Given the description of an element on the screen output the (x, y) to click on. 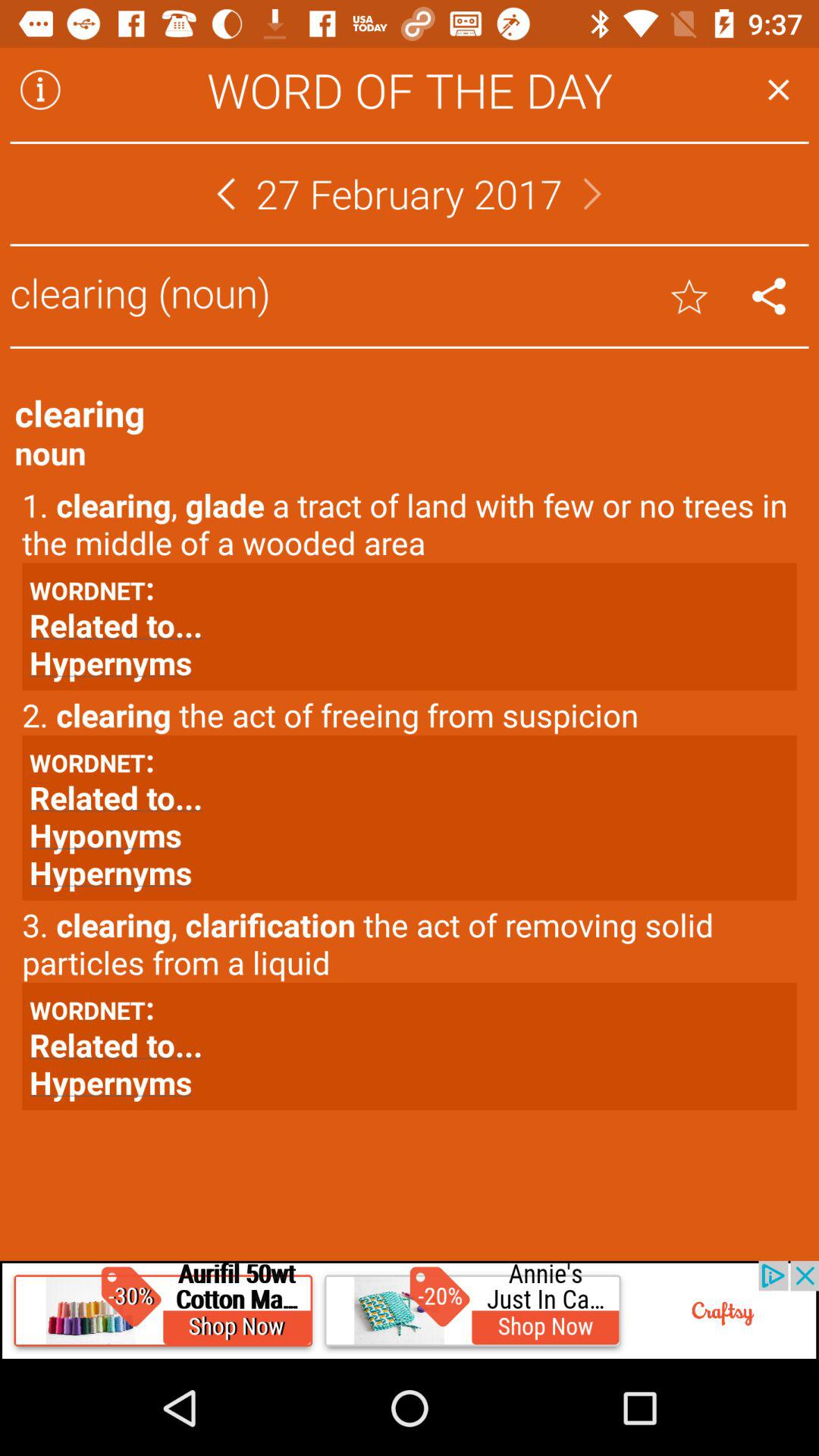
follow advertisement banner (409, 1310)
